Given the description of an element on the screen output the (x, y) to click on. 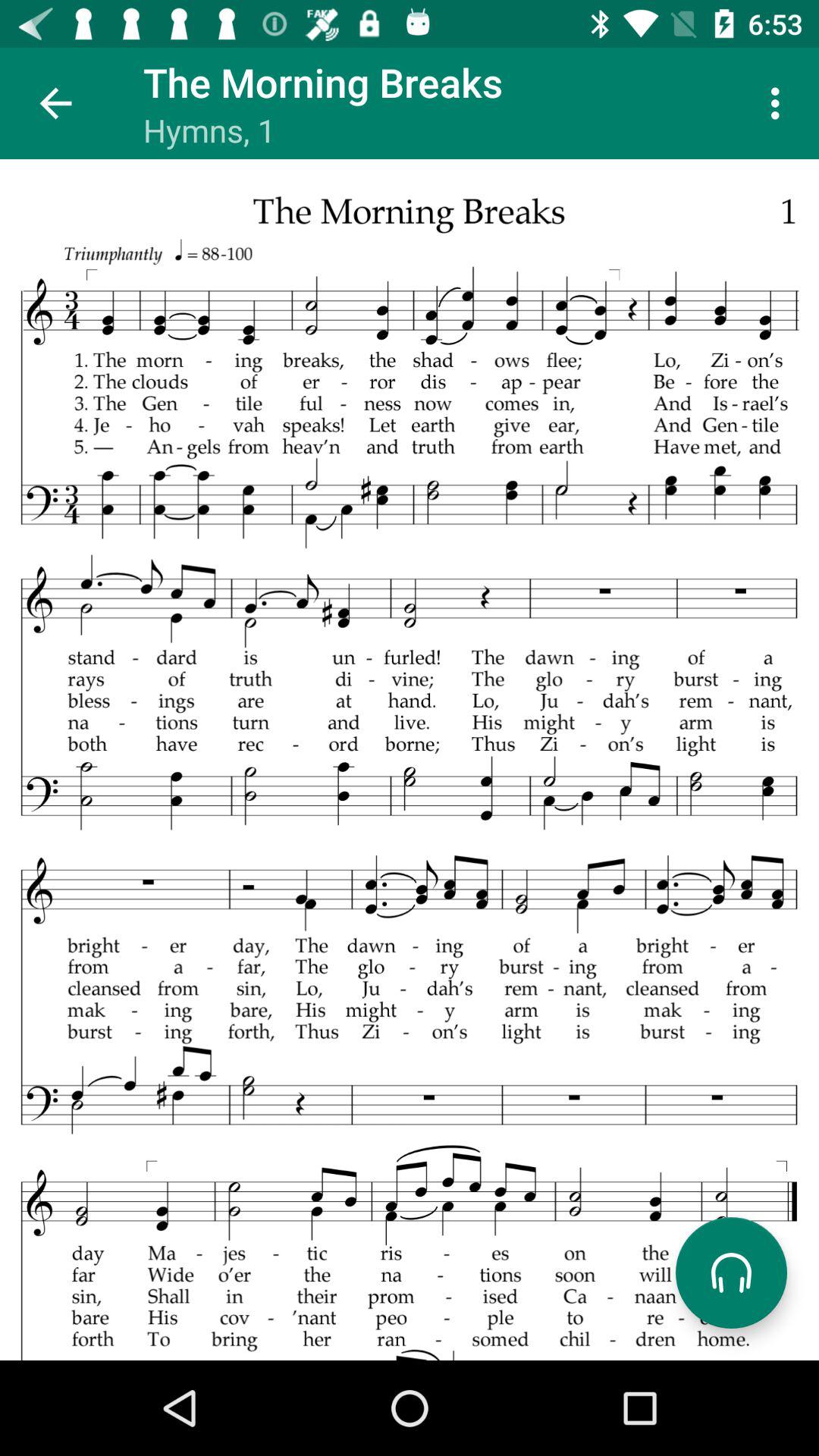
listen the song (731, 1272)
